Given the description of an element on the screen output the (x, y) to click on. 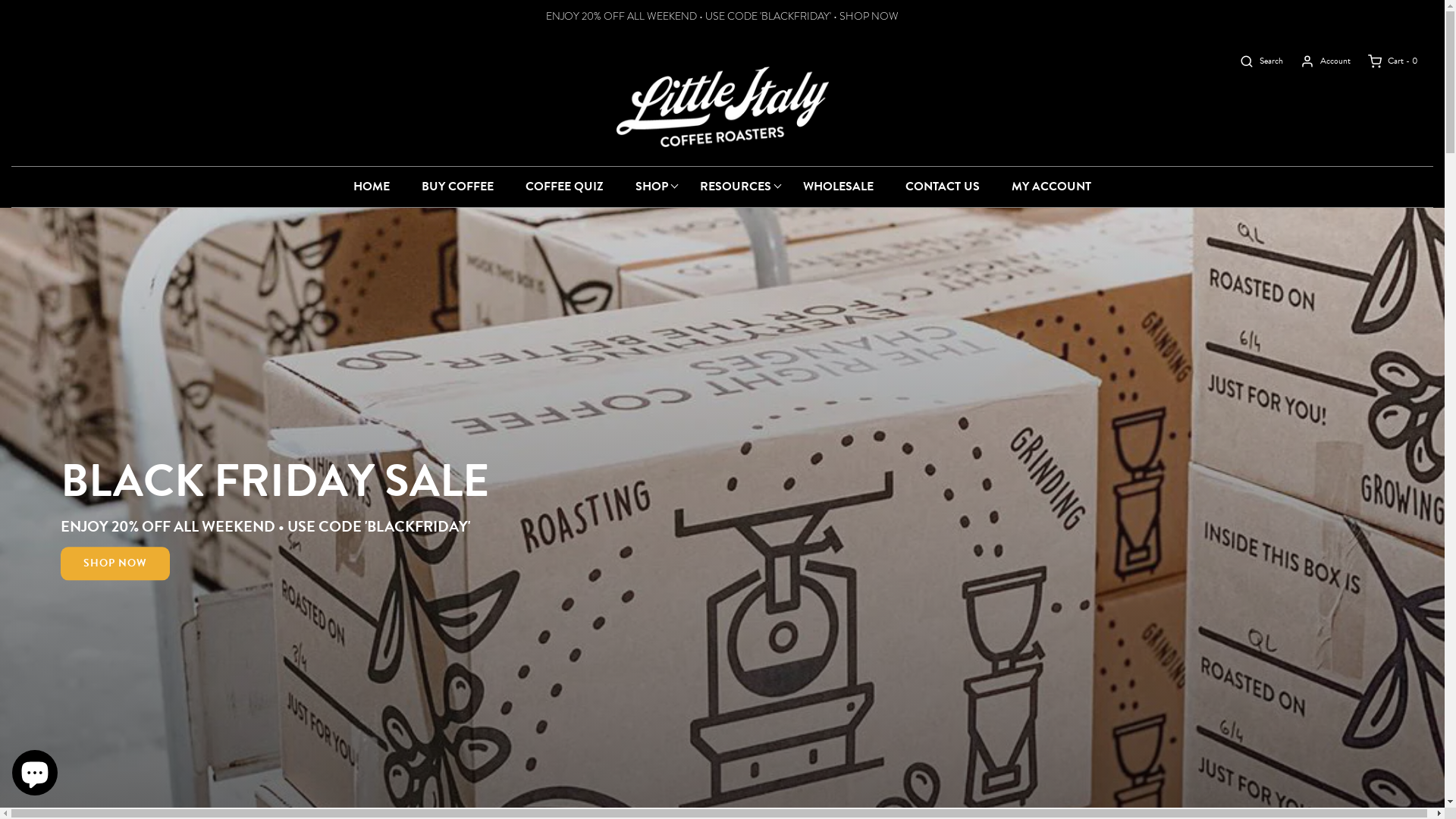
WHOLESALE Element type: text (837, 186)
COFFEE QUIZ Element type: text (564, 186)
Search Element type: text (1252, 60)
RESOURCES Element type: text (735, 186)
CONTACT US Element type: text (942, 186)
Shopify online store chat Element type: hover (34, 769)
Cart - 0 Element type: text (1384, 60)
Account Element type: text (1316, 60)
SHOP Element type: text (651, 186)
BLACK FRIDAY SALE Element type: text (274, 480)
HOME Element type: text (371, 186)
MY ACCOUNT Element type: text (1051, 186)
SHOP NOW Element type: text (114, 563)
BUY COFFEE Element type: text (457, 186)
